Given the description of an element on the screen output the (x, y) to click on. 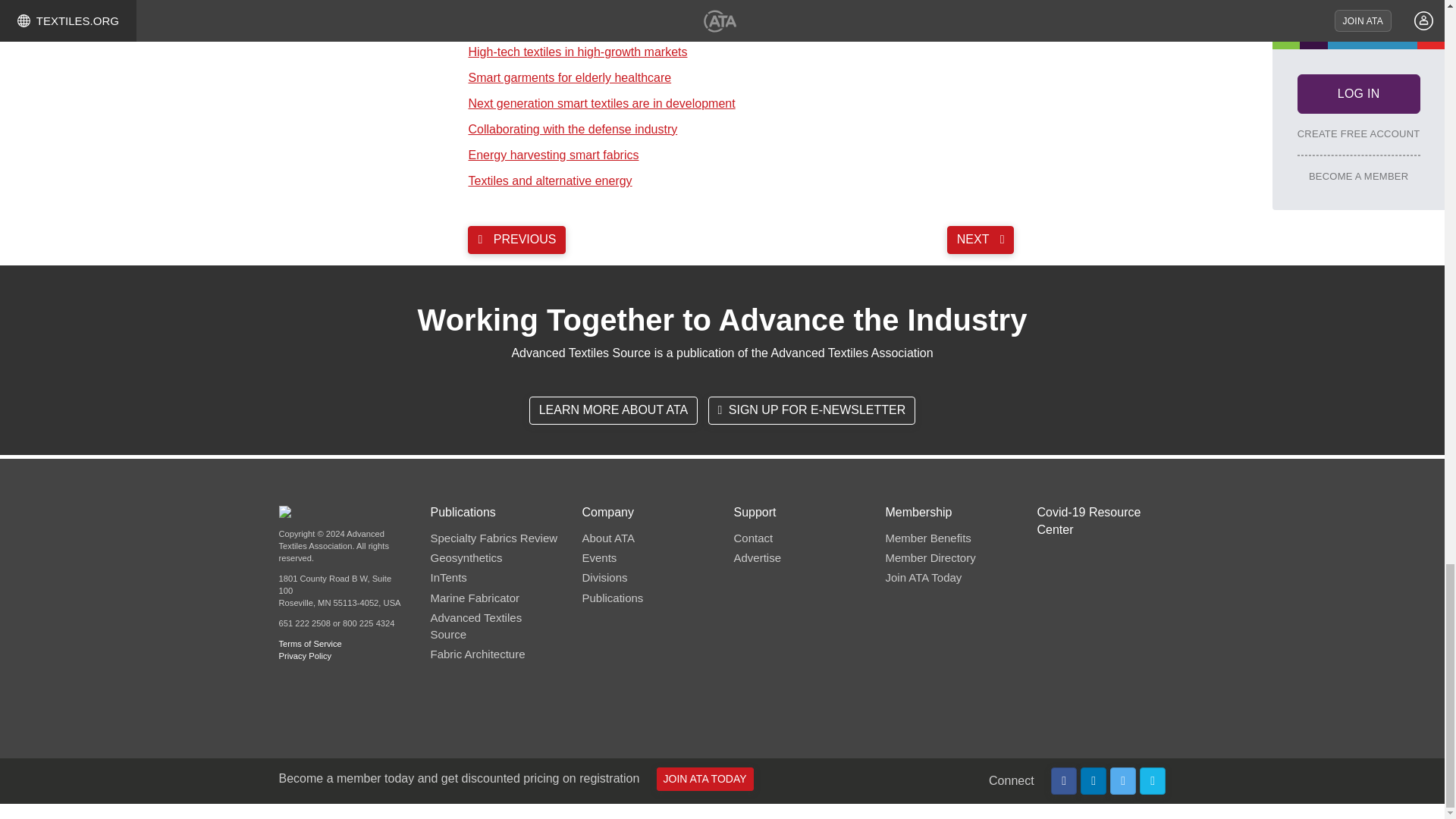
Follow us on Twitter (1123, 781)
Watch us on Vimeo (1153, 781)
Follow us on LinkedIn (1093, 781)
Follow us on Facebook (1064, 781)
